Given the description of an element on the screen output the (x, y) to click on. 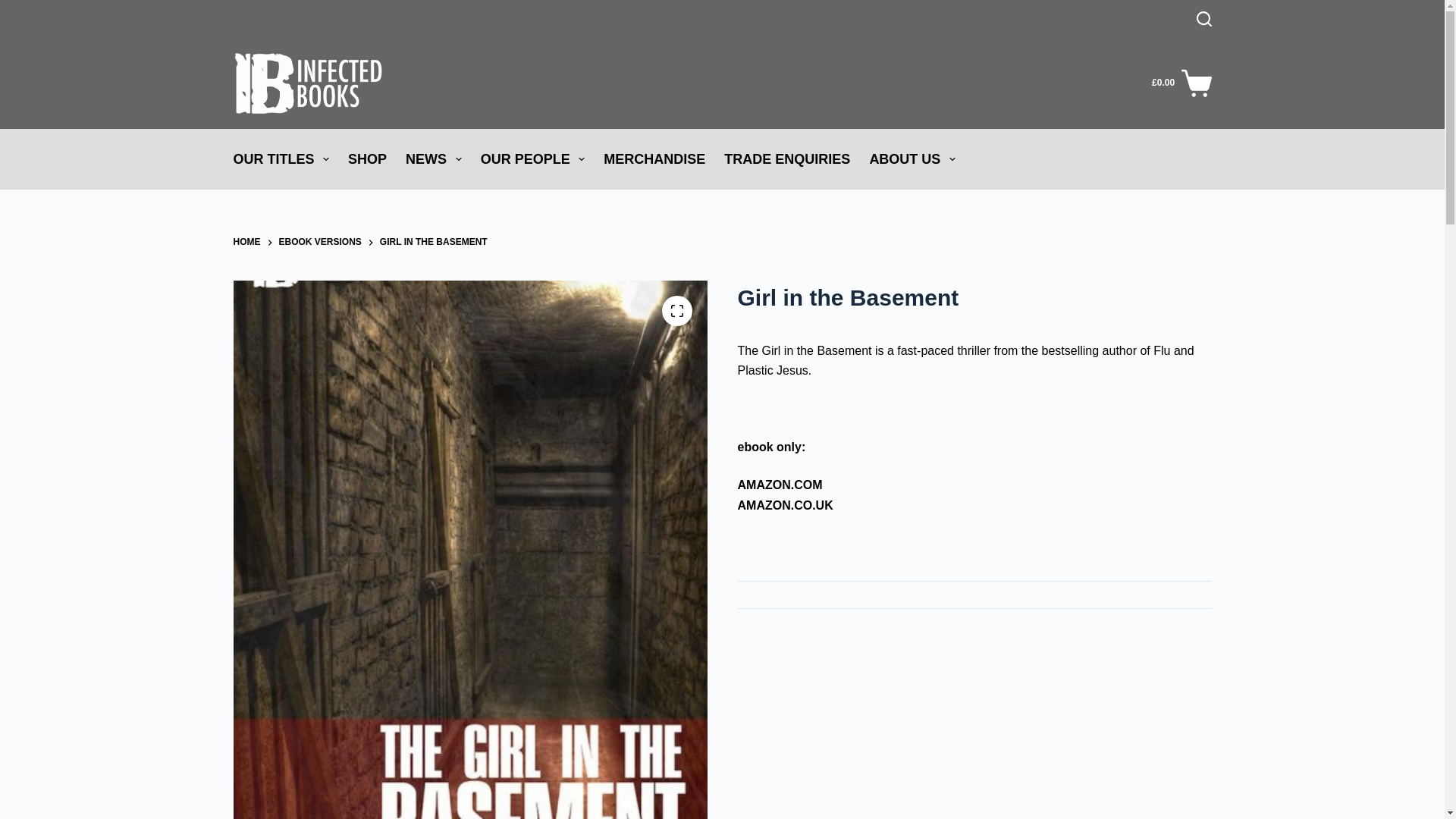
Skip to content (15, 7)
